Given the description of an element on the screen output the (x, y) to click on. 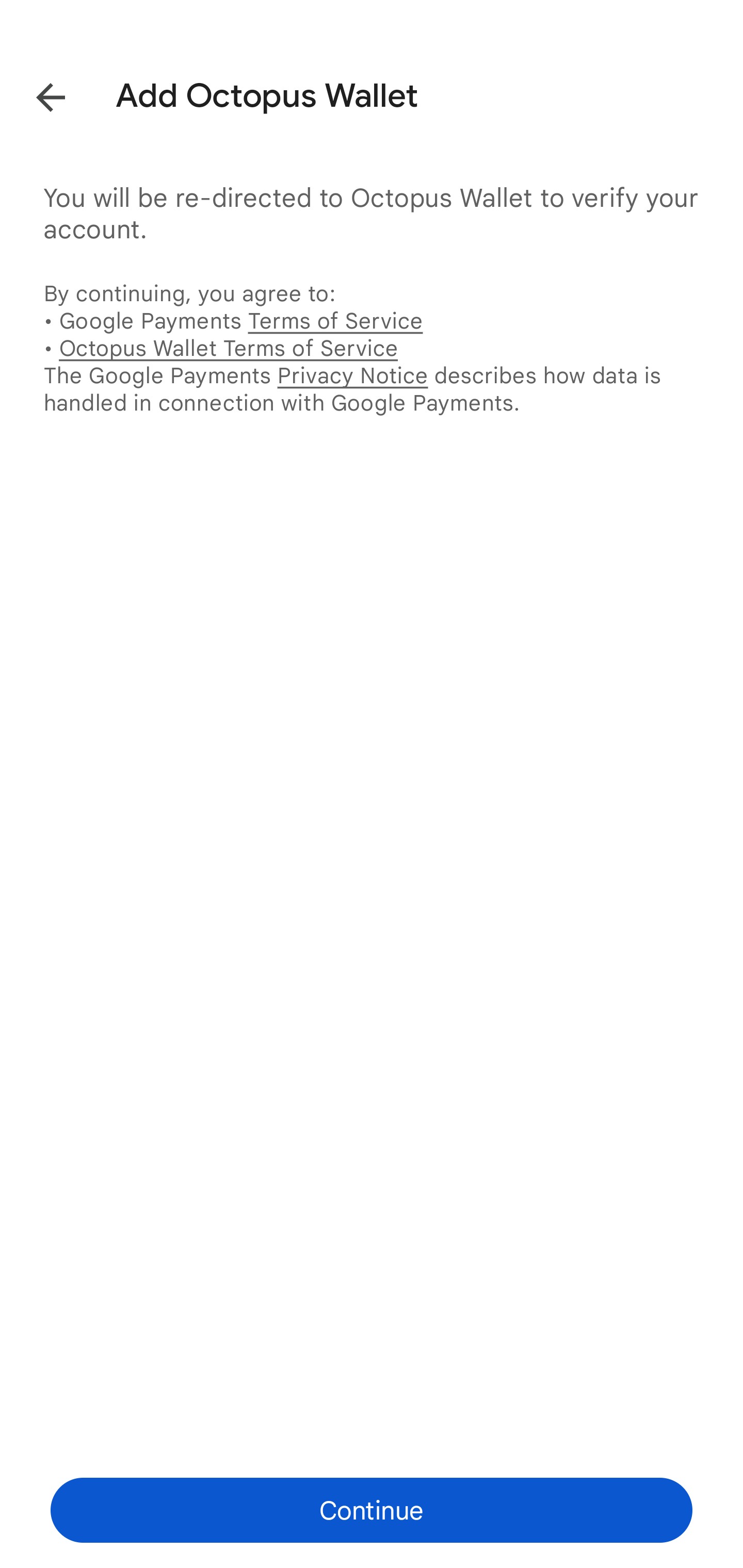
Back (36, 94)
Terms of Service (334, 320)
Octopus Wallet Terms of Service (227, 347)
Privacy Notice (352, 375)
Continue (371, 1510)
